Given the description of an element on the screen output the (x, y) to click on. 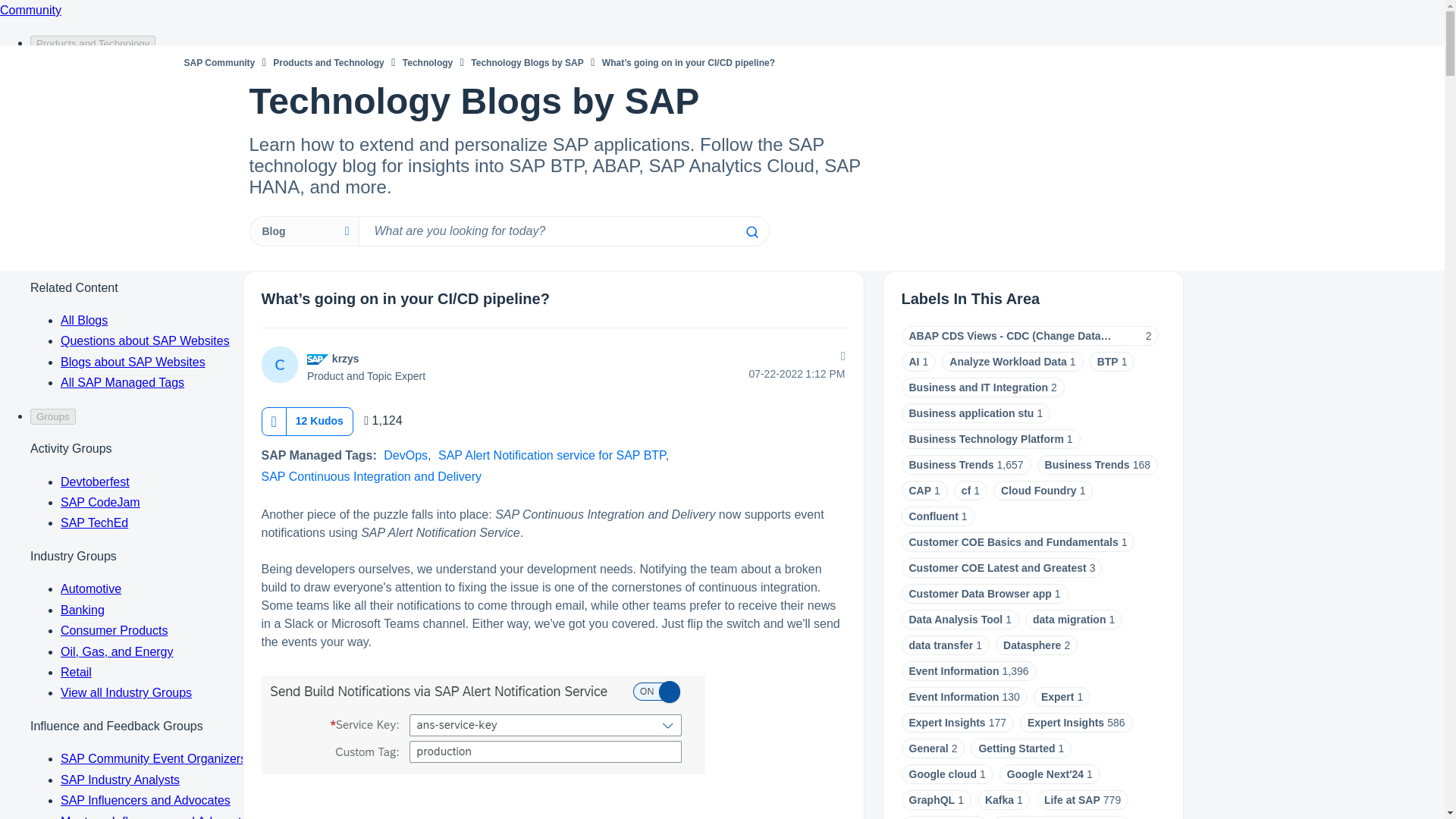
Technology (427, 62)
Products and Technology (328, 62)
Search (563, 231)
krzys (345, 358)
Product and Topic Expert (318, 358)
Click here to see who gave kudos to this post. (319, 420)
SAP Continuous Integration and Delivery (370, 476)
Technology Blogs by SAP (526, 62)
Search (750, 232)
Posted on (747, 373)
